Given the description of an element on the screen output the (x, y) to click on. 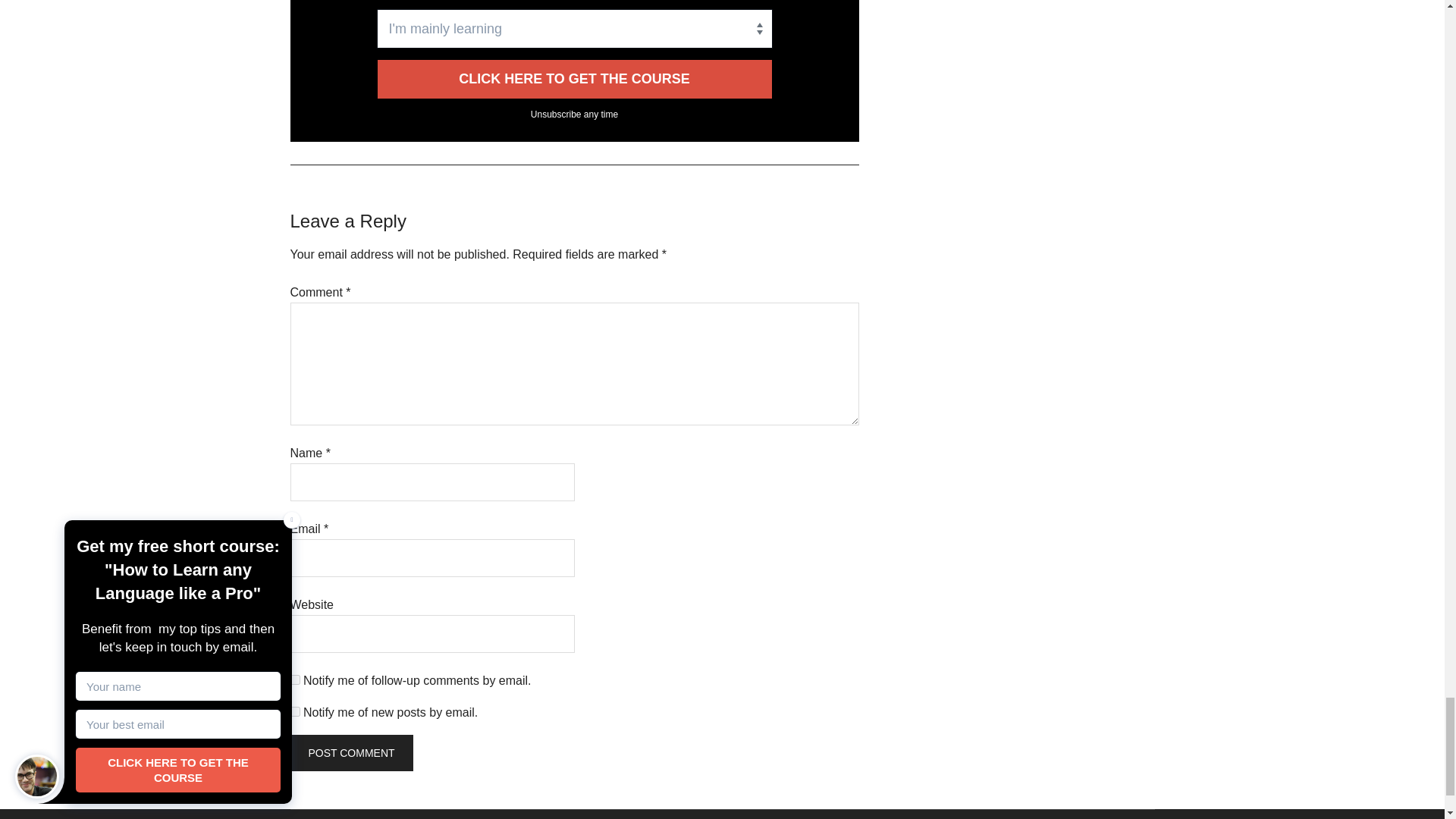
Post Comment (350, 752)
subscribe (294, 679)
subscribe (294, 711)
